Given the description of an element on the screen output the (x, y) to click on. 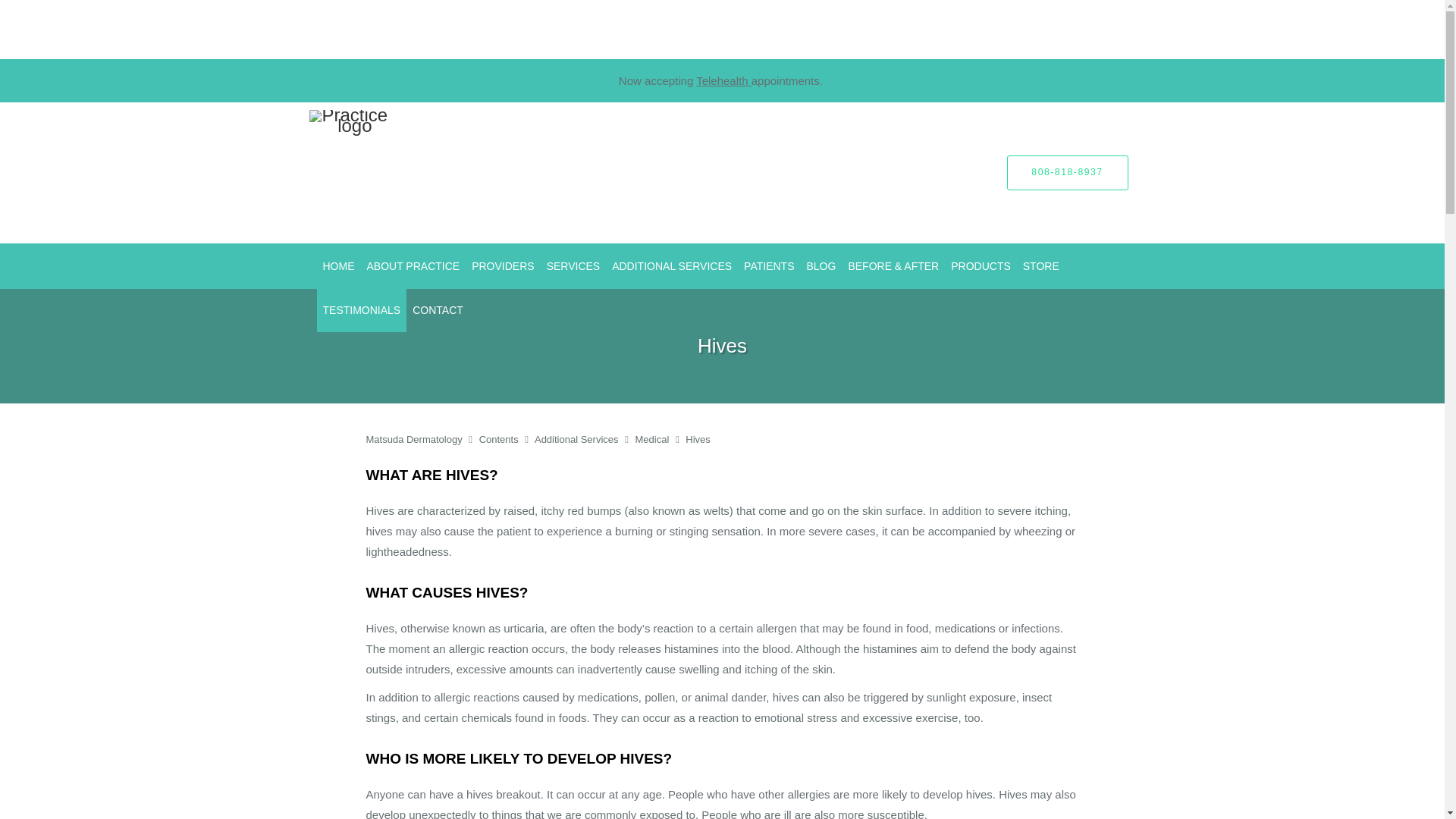
808-818-8937 (1067, 172)
Telehealth (723, 80)
HOME (339, 266)
SERVICES (573, 266)
PROVIDERS (502, 266)
ADDITIONAL SERVICES (671, 266)
ABOUT PRACTICE (413, 266)
